Given the description of an element on the screen output the (x, y) to click on. 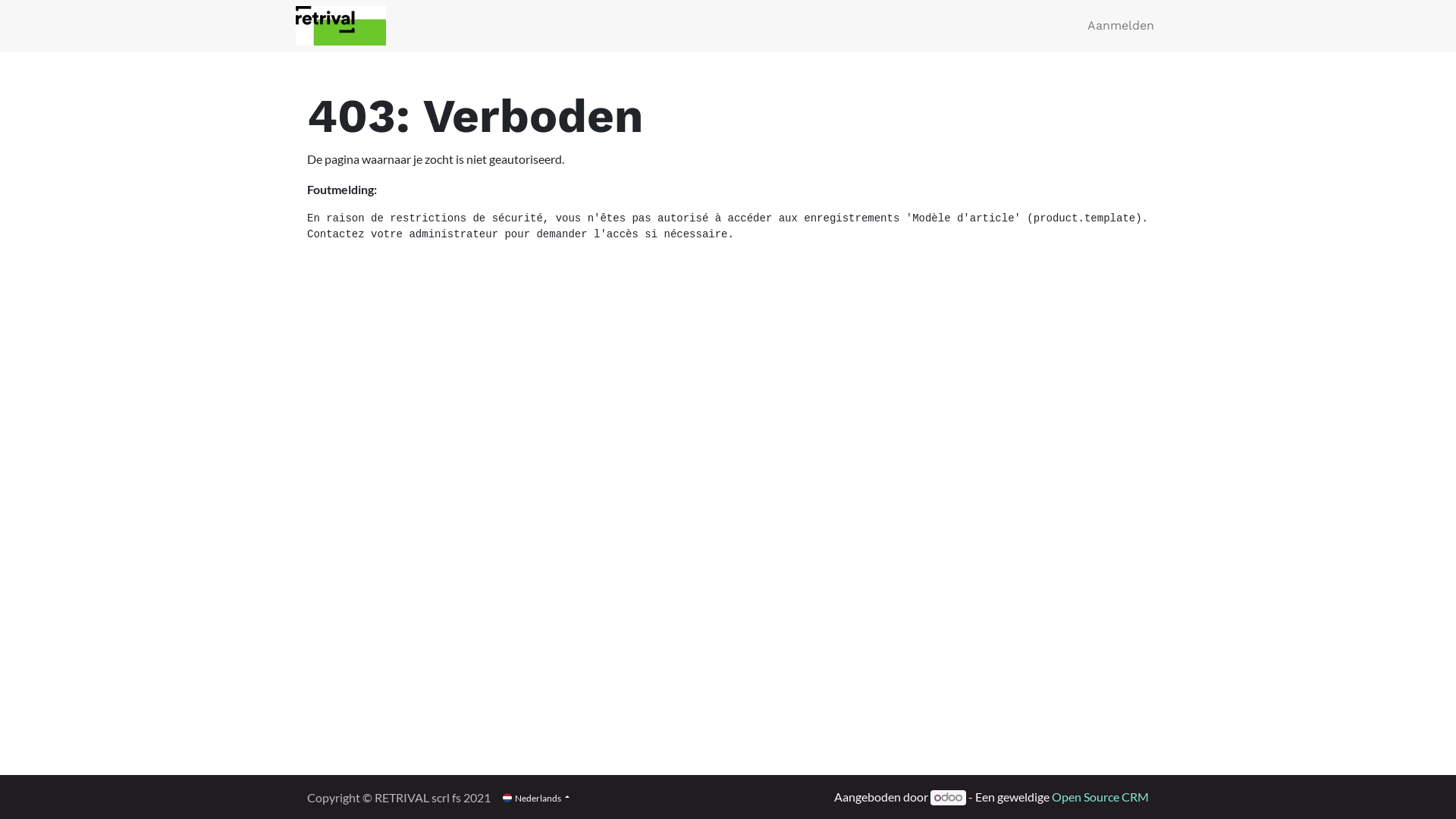
Open Source CRM Element type: text (1099, 796)
Nederlands Element type: text (535, 798)
Aanmelden Element type: text (1120, 25)
Sc Retrival Element type: hover (340, 25)
